Given the description of an element on the screen output the (x, y) to click on. 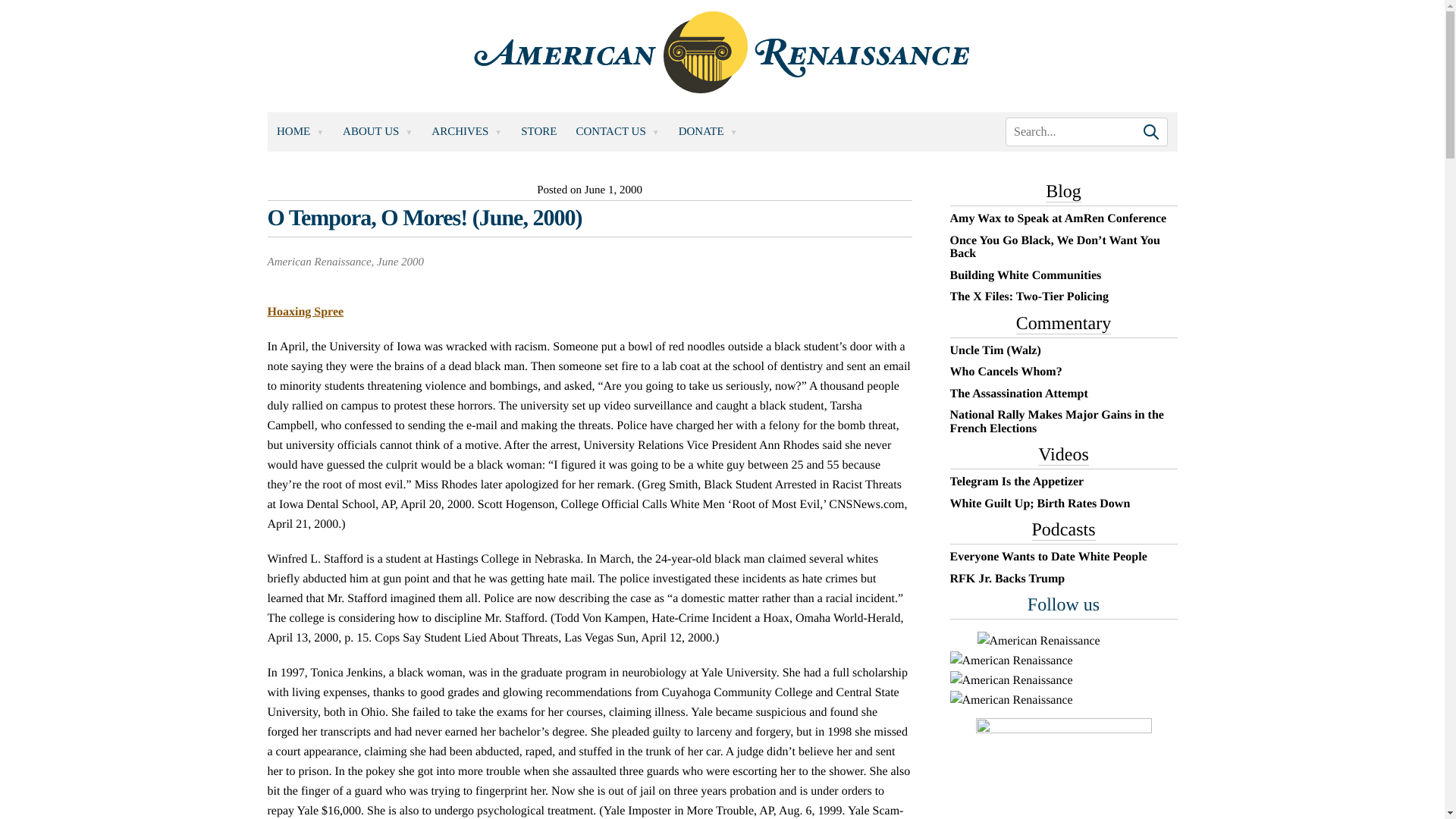
ABOUT US (377, 131)
Follow us on BitChute (1037, 641)
search (1086, 131)
Subscribe to our RSS feed (1010, 680)
Follow us on Telegram (1010, 700)
HOME (299, 131)
Follow us on Gab (1010, 660)
